Given the description of an element on the screen output the (x, y) to click on. 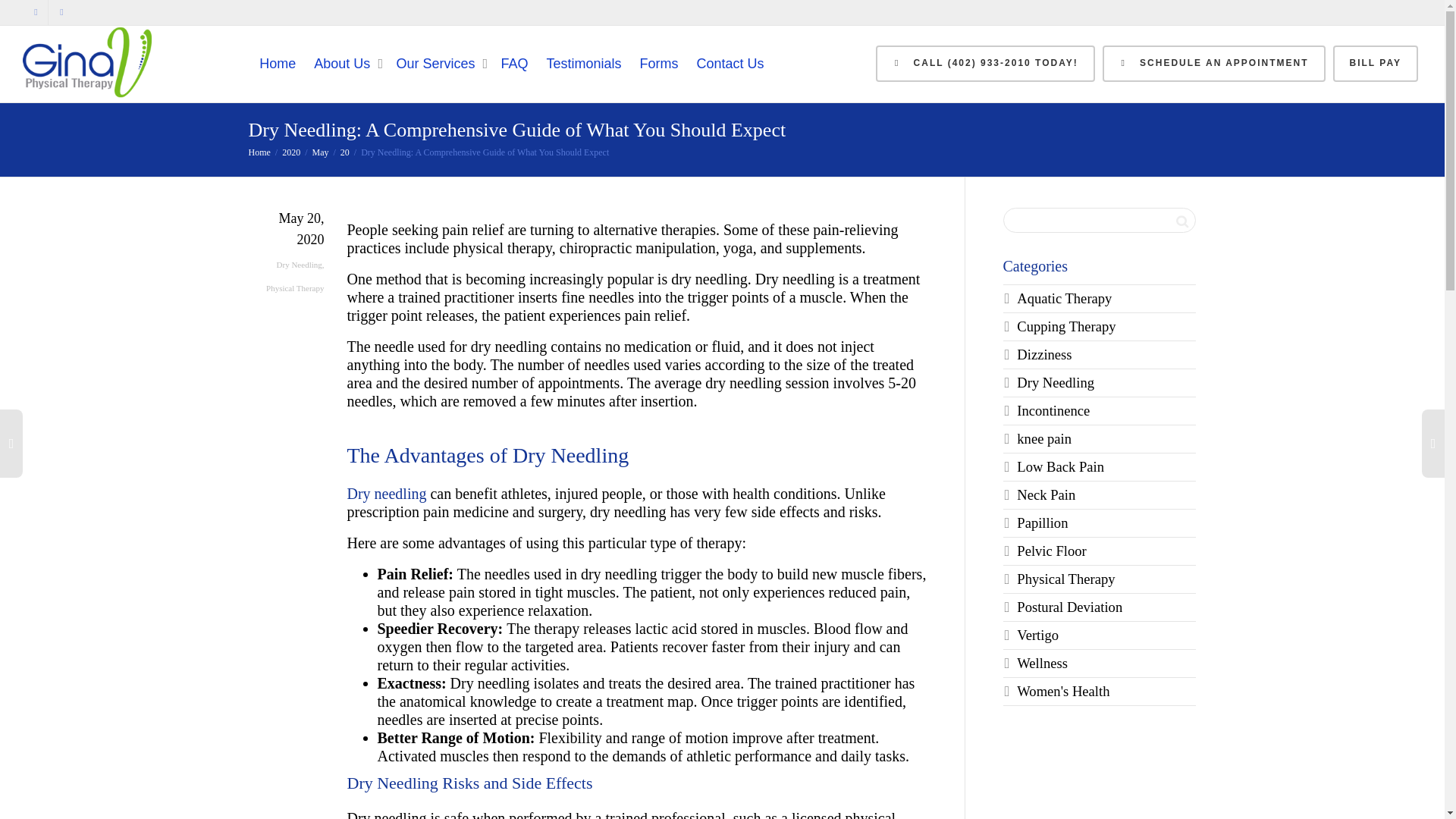
May 20, 2020 (286, 240)
Physical Therapy (294, 287)
GinaV Physical Therapy in Papillion, Nebraska (259, 152)
Search (1181, 221)
BILL PAY (1375, 63)
Our Services (438, 63)
Contact Us (728, 63)
Dry Needling (298, 264)
2020 (290, 152)
Contact Us (728, 63)
Testimonials (583, 63)
May (321, 152)
SCHEDULE AN APPOINTMENT (1213, 63)
Bill Pay (1375, 63)
GinaV Physical Therapy in Papillion, Nebraska (87, 61)
